Given the description of an element on the screen output the (x, y) to click on. 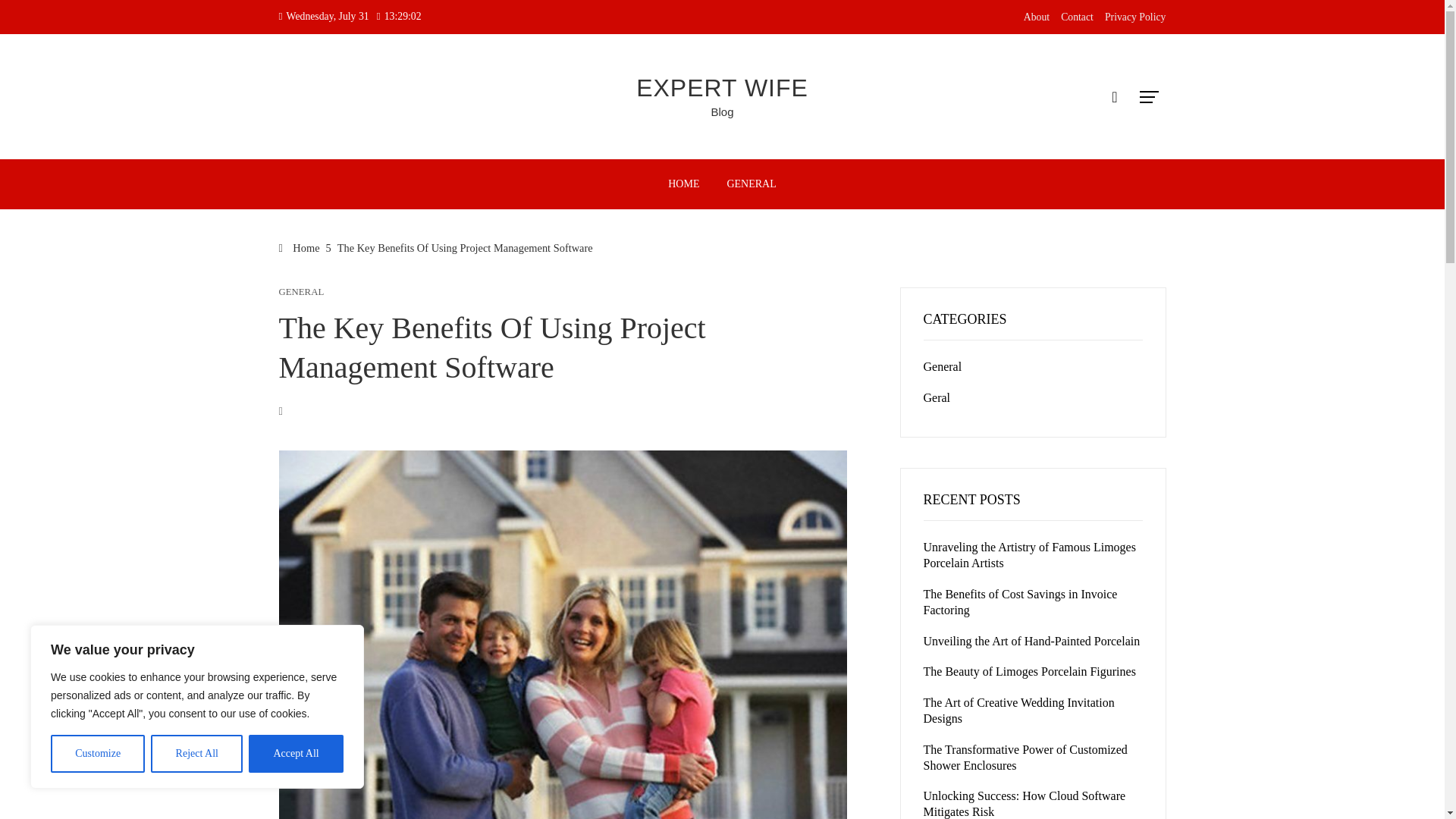
Privacy Policy (1135, 17)
GENERAL (301, 292)
EXPERT WIFE (722, 87)
General (942, 366)
Home (299, 247)
Unraveling the Artistry of Famous Limoges Porcelain Artists (1029, 554)
Customize (97, 753)
Accept All (295, 753)
Blog (721, 111)
HOME (683, 183)
GENERAL (750, 183)
Geral (936, 397)
Reject All (197, 753)
Contact (1077, 17)
